Given the description of an element on the screen output the (x, y) to click on. 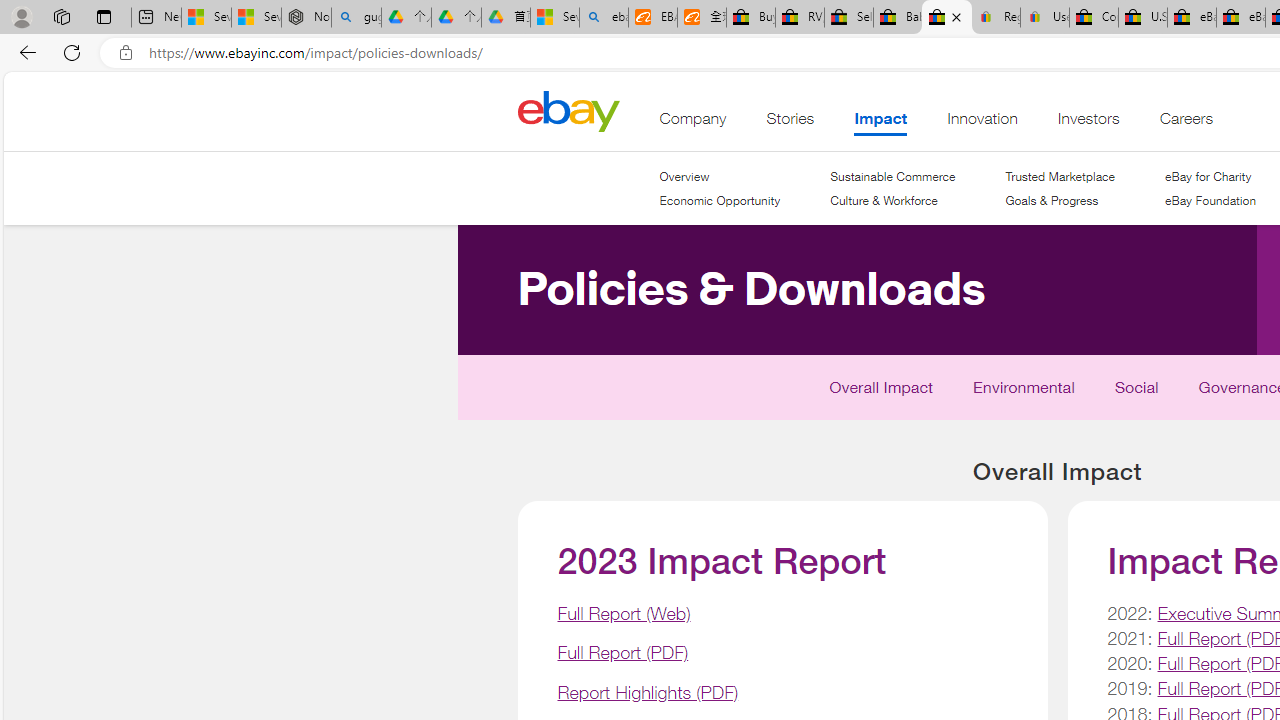
Economic Opportunity (719, 200)
eBay for Charity (1207, 176)
Investors (1088, 123)
